Given the description of an element on the screen output the (x, y) to click on. 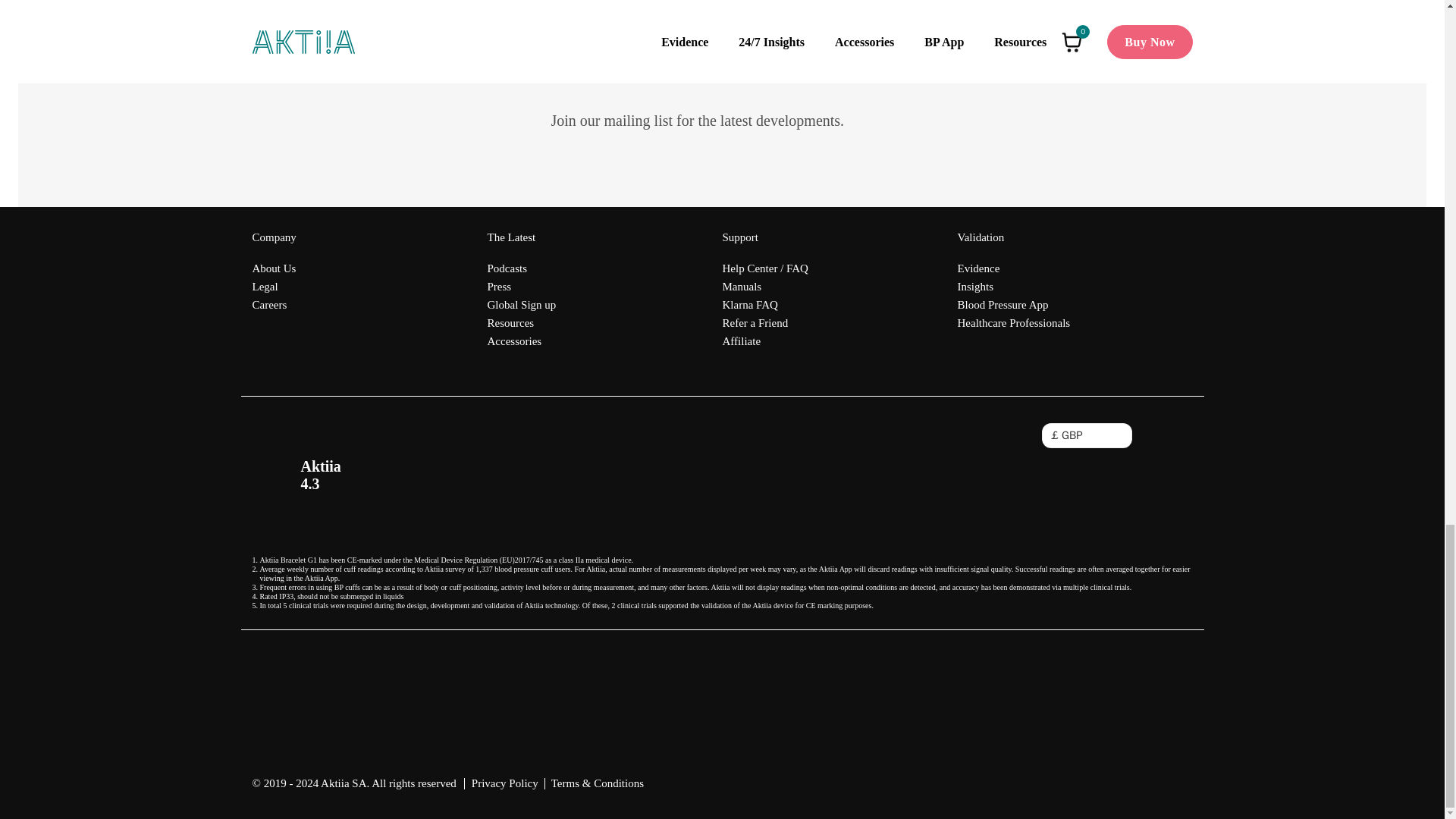
Manuals (765, 286)
Evidence (1013, 268)
Careers (273, 304)
Press (521, 286)
Podcasts (521, 268)
Resources (521, 322)
About Us (273, 268)
Accessories (521, 341)
Global Sign up (521, 304)
Refer a Friend (765, 322)
